Given the description of an element on the screen output the (x, y) to click on. 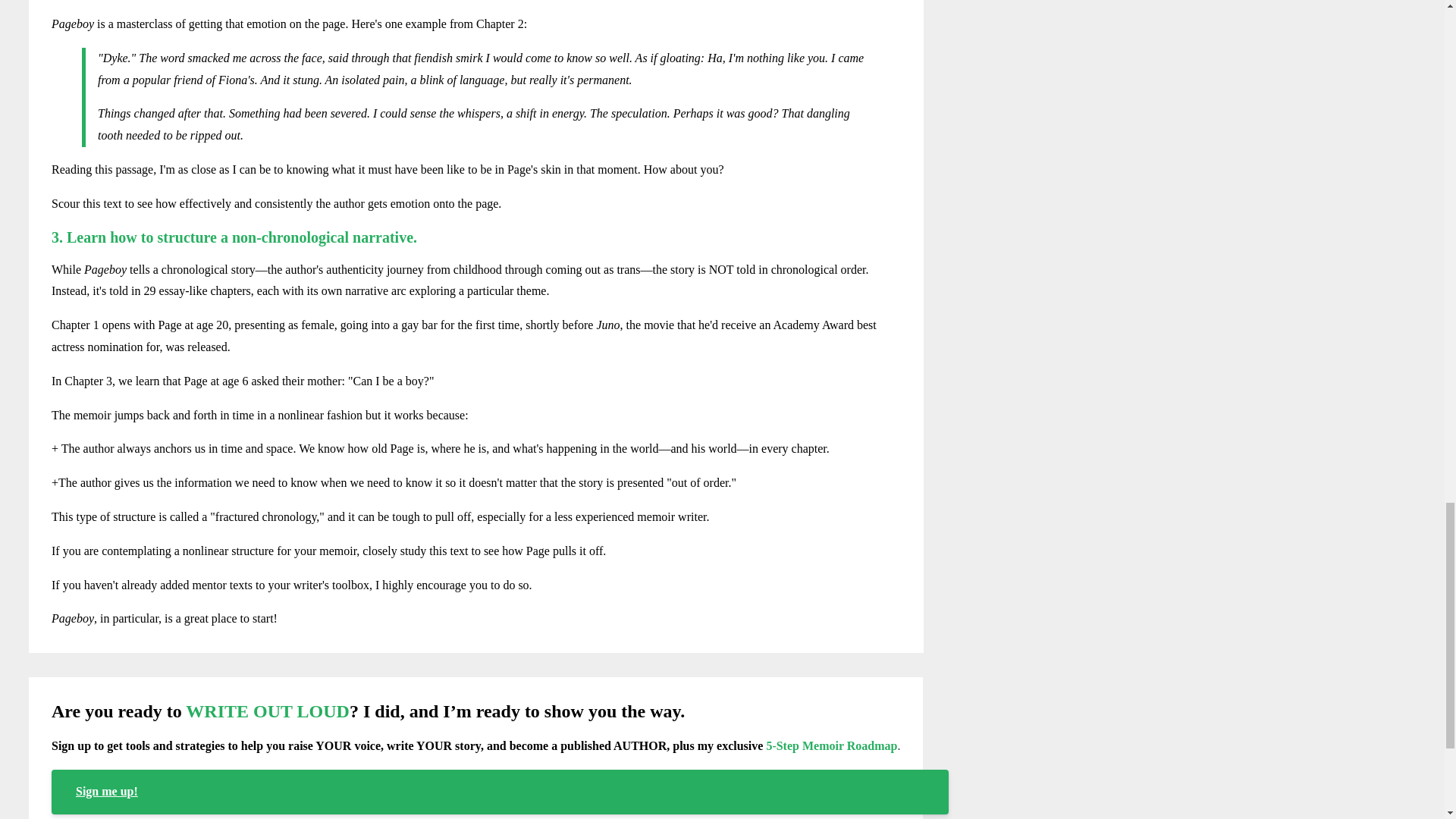
Sign me up! (499, 791)
